Given the description of an element on the screen output the (x, y) to click on. 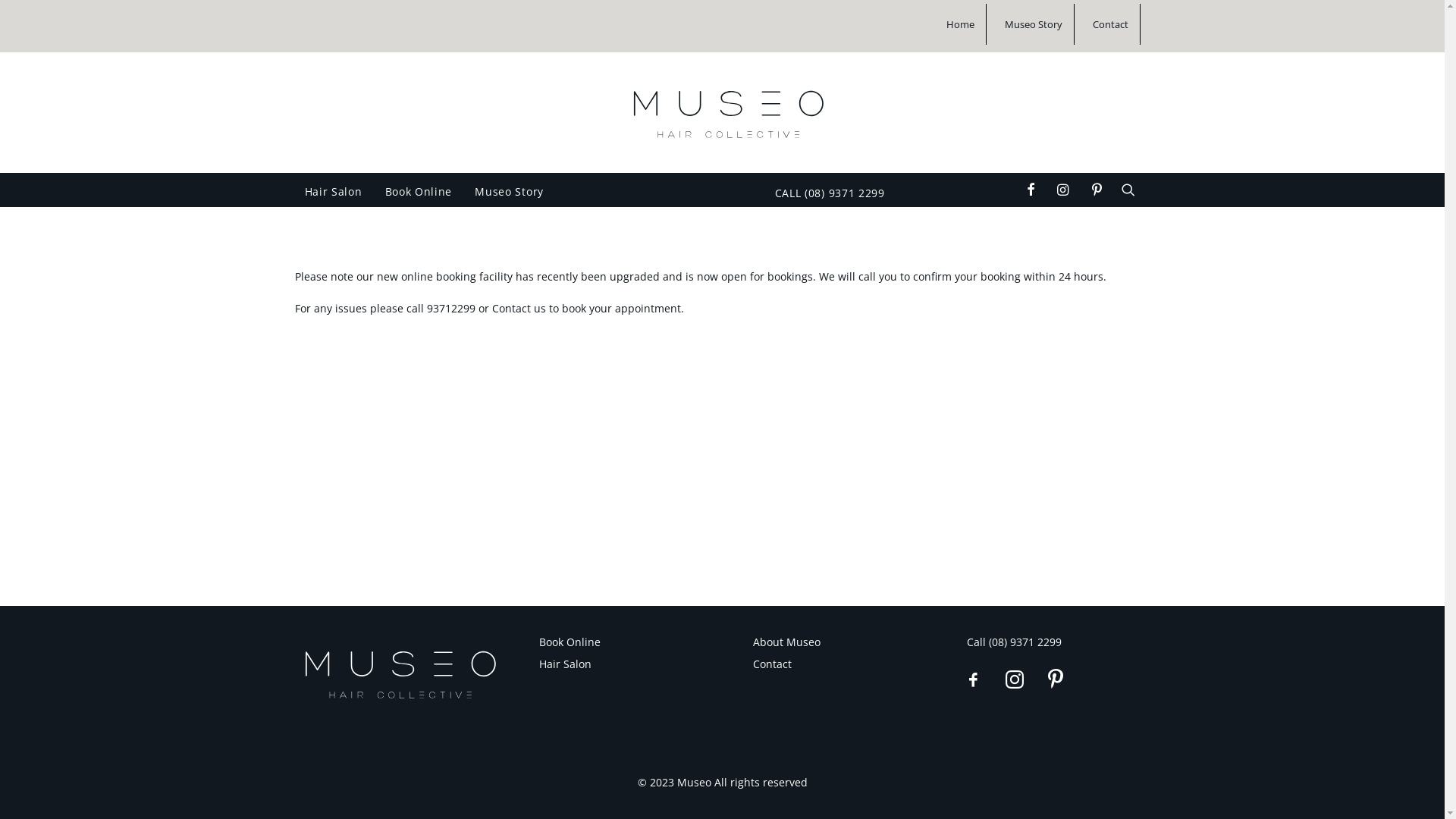
Home Element type: text (966, 23)
Hair Salon Element type: text (332, 191)
Museo Story Element type: text (1030, 23)
Book Online Element type: text (568, 641)
Contact Element type: text (1107, 23)
About Museo Element type: text (785, 641)
Call (08) 9371 2299 Element type: text (1013, 641)
CALL (08) 9371 2299 Element type: text (824, 192)
Hair Salon Element type: text (564, 663)
Book Online Element type: text (417, 191)
Museo Story Element type: text (508, 191)
Contact Element type: text (771, 663)
Contact Element type: text (510, 308)
